Given the description of an element on the screen output the (x, y) to click on. 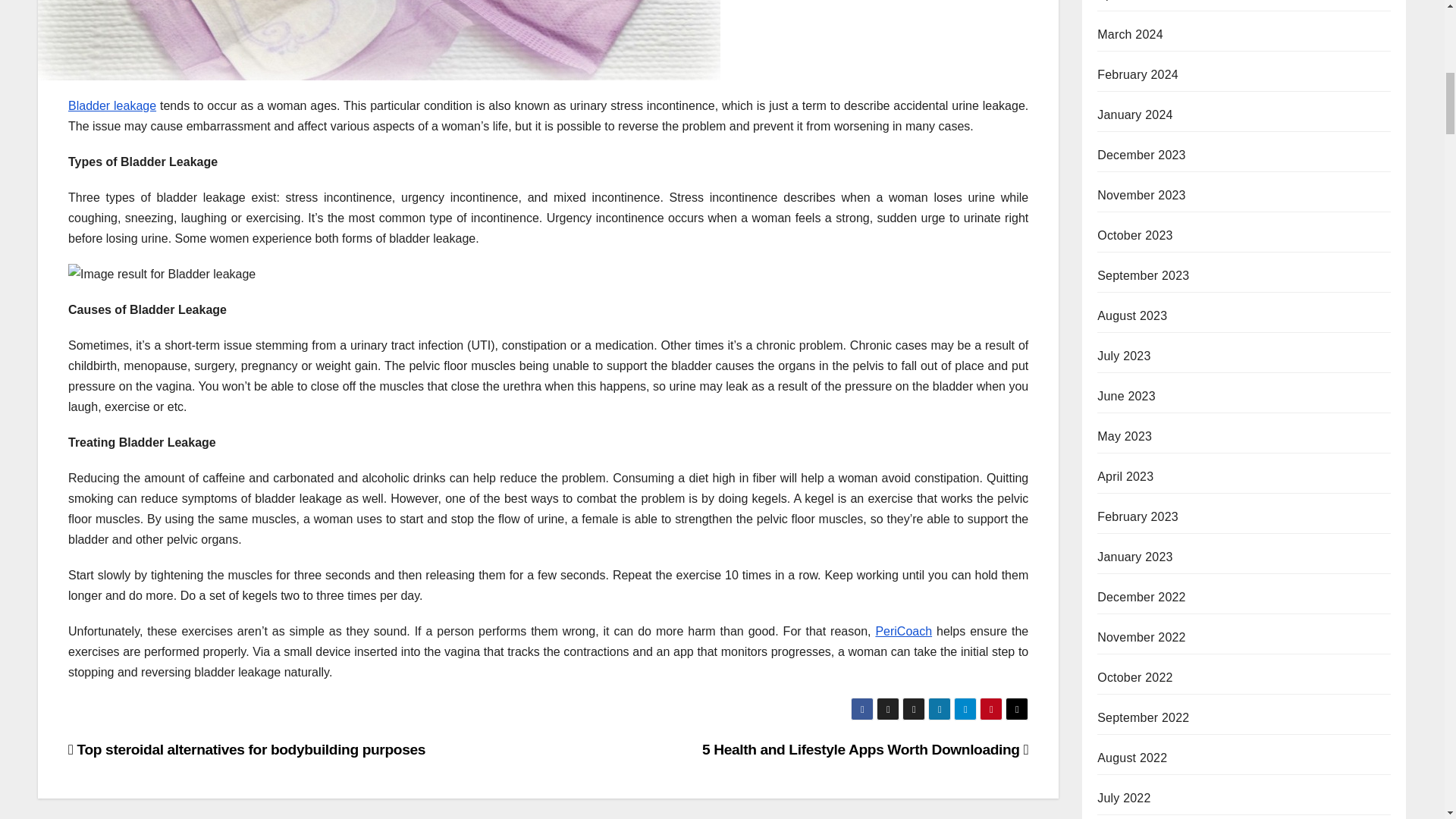
Bladder leakage (111, 105)
PeriCoach (903, 631)
5 Health and Lifestyle Apps Worth Downloading (864, 749)
Top steroidal alternatives for bodybuilding purposes (246, 749)
